Given the description of an element on the screen output the (x, y) to click on. 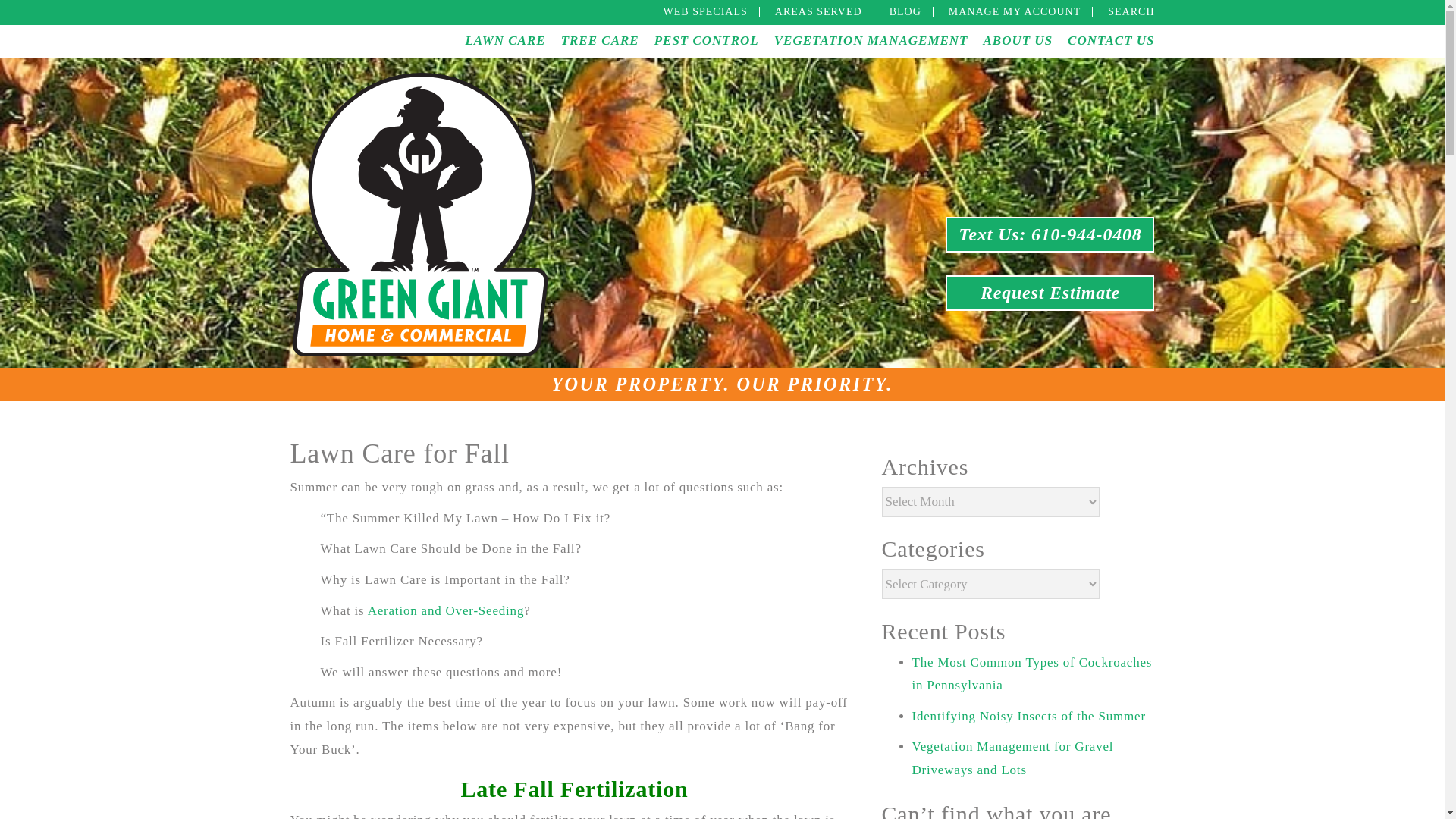
BLOG (905, 11)
SEARCH (1131, 11)
TREE CARE (599, 40)
AREAS SERVED (817, 11)
ABOUT US (1017, 40)
WEB SPECIALS (705, 11)
MANAGE MY ACCOUNT (1014, 11)
Request Estimate (1049, 293)
PEST CONTROL (705, 40)
CONTACT US (1110, 40)
